Given the description of an element on the screen output the (x, y) to click on. 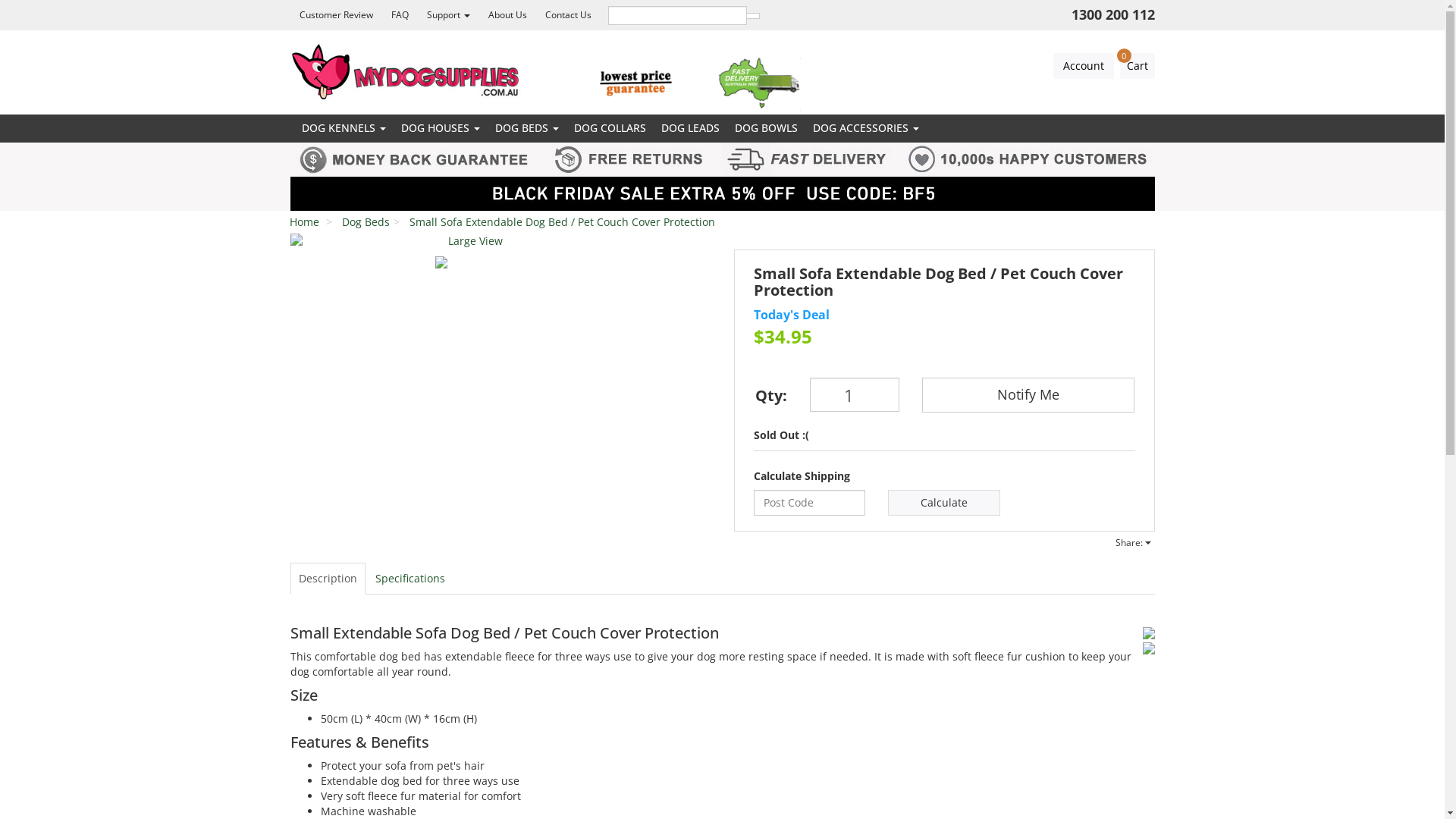
Calculate Element type: text (944, 502)
Customer Review Element type: text (335, 15)
Account Element type: text (1082, 65)
Contact Us Element type: text (567, 15)
Small Sofa Extendable Dog Bed / Pet Couch Cover Protection Element type: text (562, 221)
About Us Element type: text (507, 15)
DOG COLLARS Element type: text (608, 127)
My Dog Supplies Element type: hover (286, 120)
Share: Element type: text (1132, 542)
Home Element type: text (304, 221)
DOG BOWLS Element type: text (765, 127)
Specifications Element type: text (410, 578)
DOG LEADS Element type: text (690, 127)
FAQ Element type: text (399, 15)
DOG HOUSES Element type: text (439, 127)
Large View Element type: hover (468, 240)
DOG KENNELS Element type: text (343, 127)
Description Element type: text (326, 578)
My Dog Supplies Element type: hover (405, 70)
DOG ACCESSORIES Element type: text (865, 127)
Support Element type: text (447, 15)
Search Element type: text (752, 15)
DOG BEDS Element type: text (525, 127)
Notify Me Element type: text (1028, 394)
Dog Beds Element type: text (365, 221)
Cart
0 Element type: text (1136, 65)
